Given the description of an element on the screen output the (x, y) to click on. 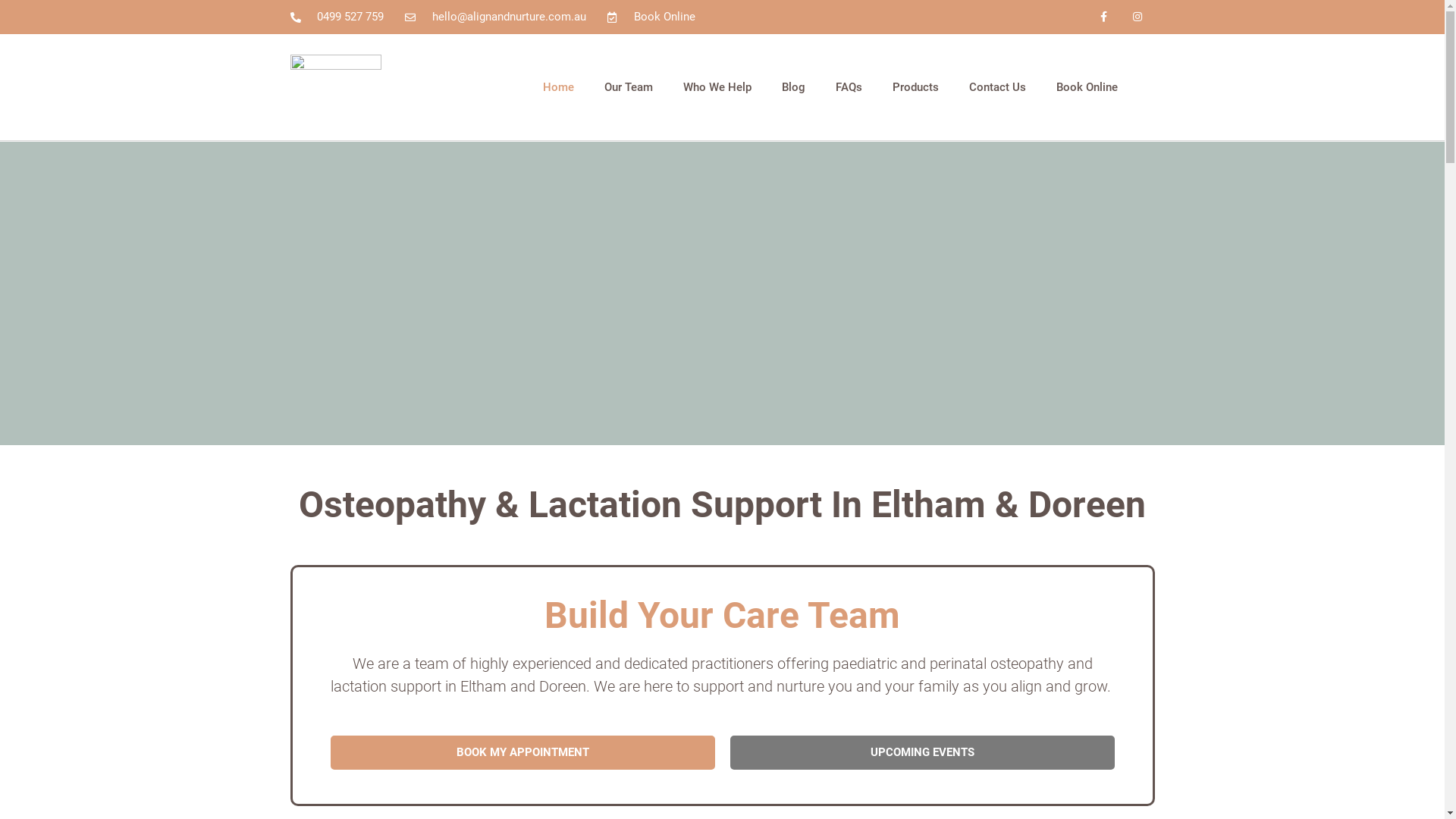
Blog Element type: text (793, 87)
Book Online Element type: text (1086, 87)
Who We Help Element type: text (717, 87)
BOOK MY APPOINTMENT Element type: text (522, 752)
Home Element type: text (558, 87)
Contact Us Element type: text (997, 87)
FAQs Element type: text (848, 87)
Products Element type: text (915, 87)
0499 527 759 Element type: text (336, 16)
UPCOMING EVENTS Element type: text (921, 752)
Our Team Element type: text (628, 87)
Book Online Element type: text (650, 16)
hello@alignandnurture.com.au Element type: text (495, 16)
